Given the description of an element on the screen output the (x, y) to click on. 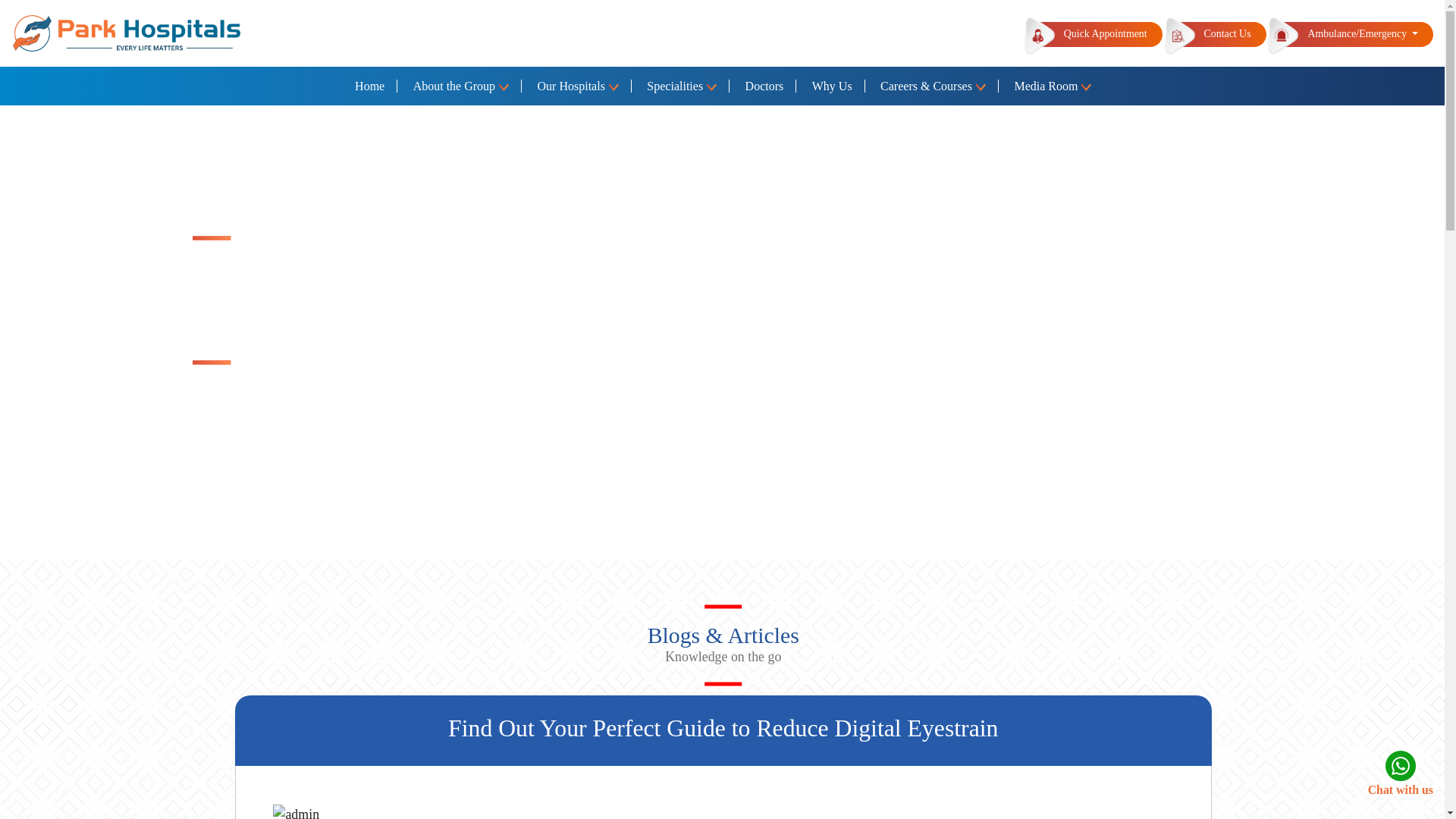
About the Group (461, 85)
Home (369, 85)
Quick Appointment (1098, 34)
Contact Us (1220, 34)
Our Hospitals (578, 85)
